Given the description of an element on the screen output the (x, y) to click on. 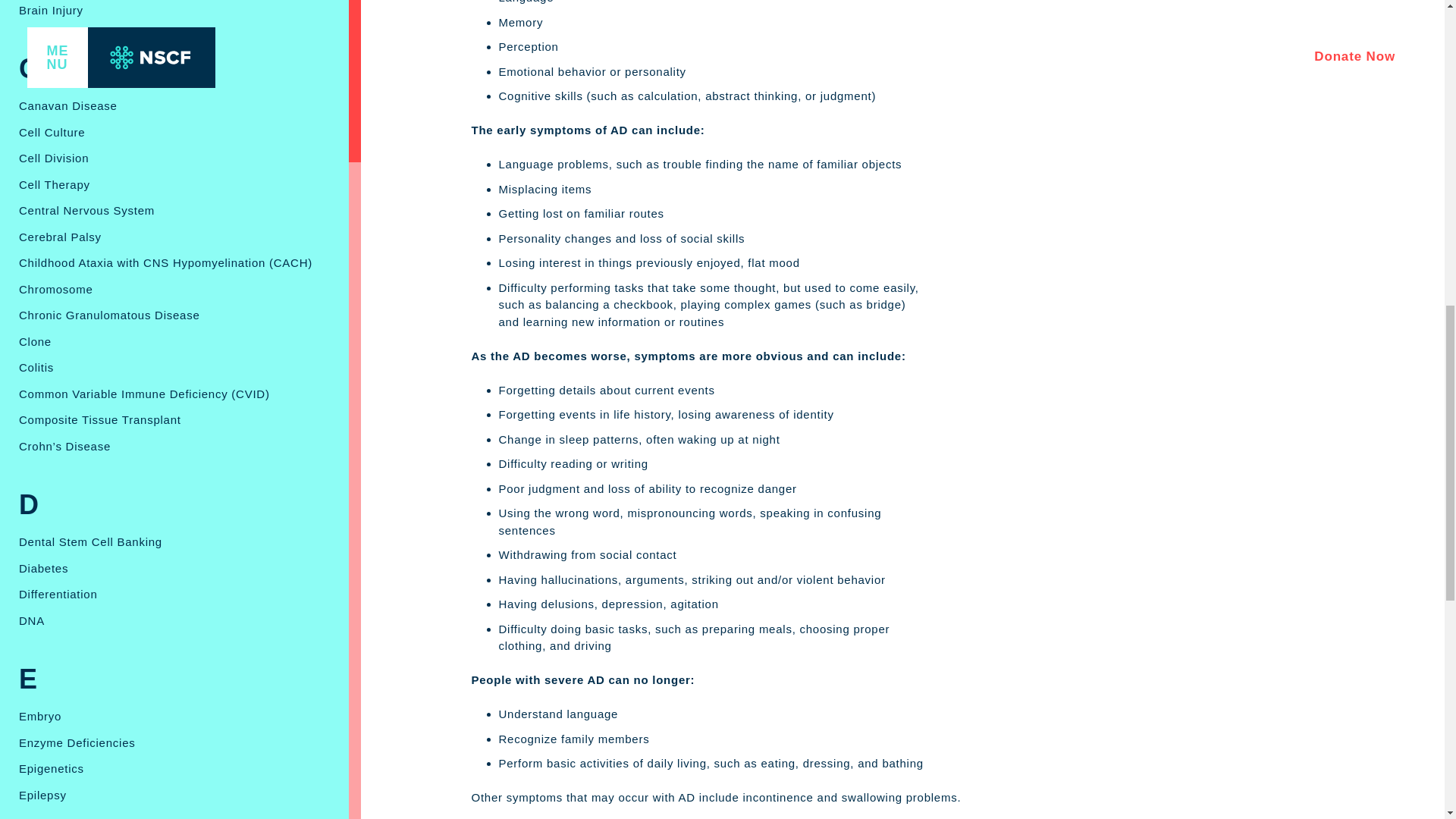
Canavan Disease (67, 106)
Cell Division (53, 158)
Cell Culture (51, 132)
Composite Tissue Transplant (99, 420)
Cerebral Palsy (59, 237)
Cell Therapy (54, 185)
Clone (34, 342)
Brain Injury (50, 10)
Colitis (35, 367)
Central Nervous System (86, 211)
Chromosome (55, 289)
Chronic Granulomatous Disease (109, 315)
